Given the description of an element on the screen output the (x, y) to click on. 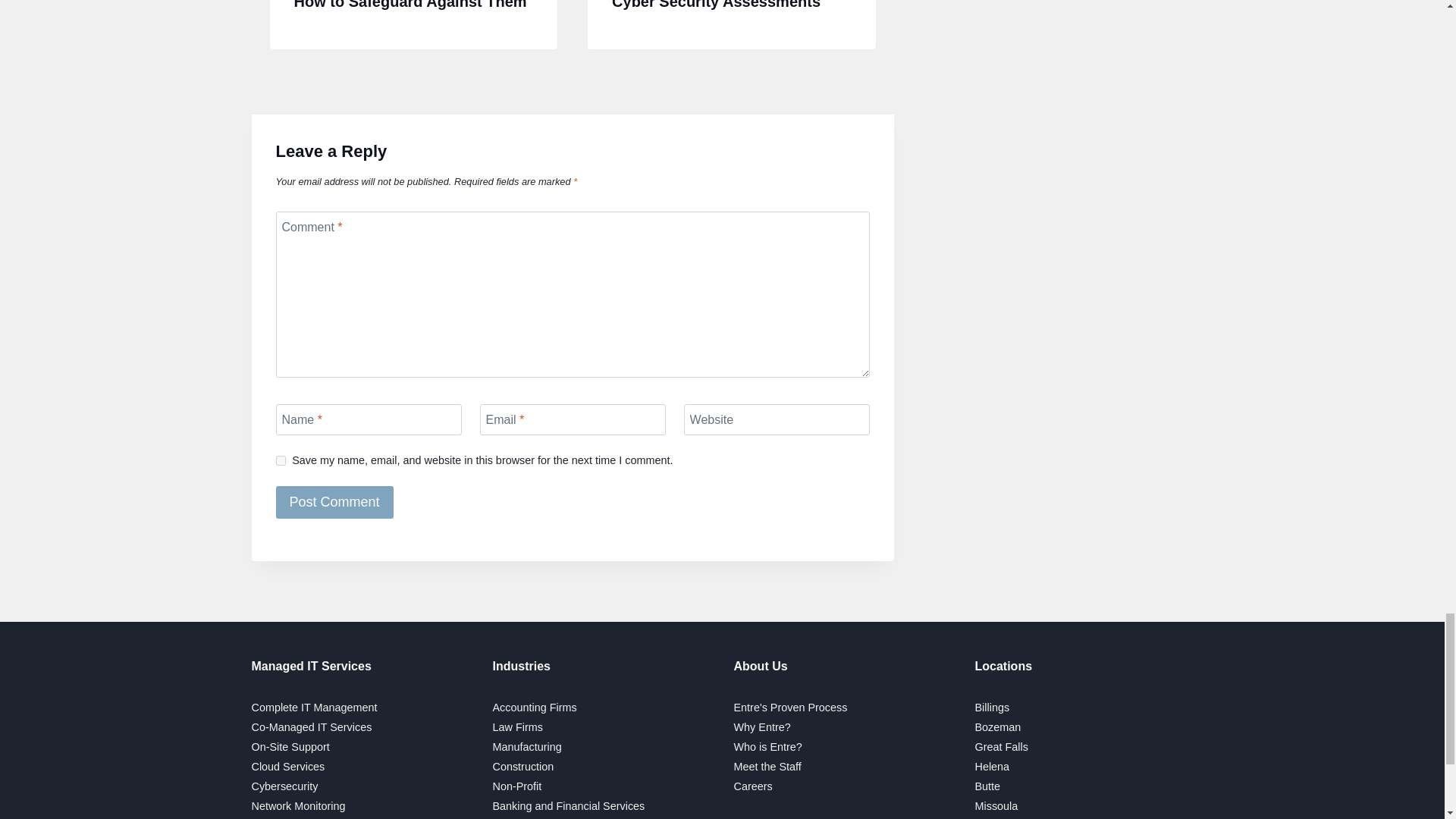
yes (280, 460)
Post Comment (334, 501)
